Given the description of an element on the screen output the (x, y) to click on. 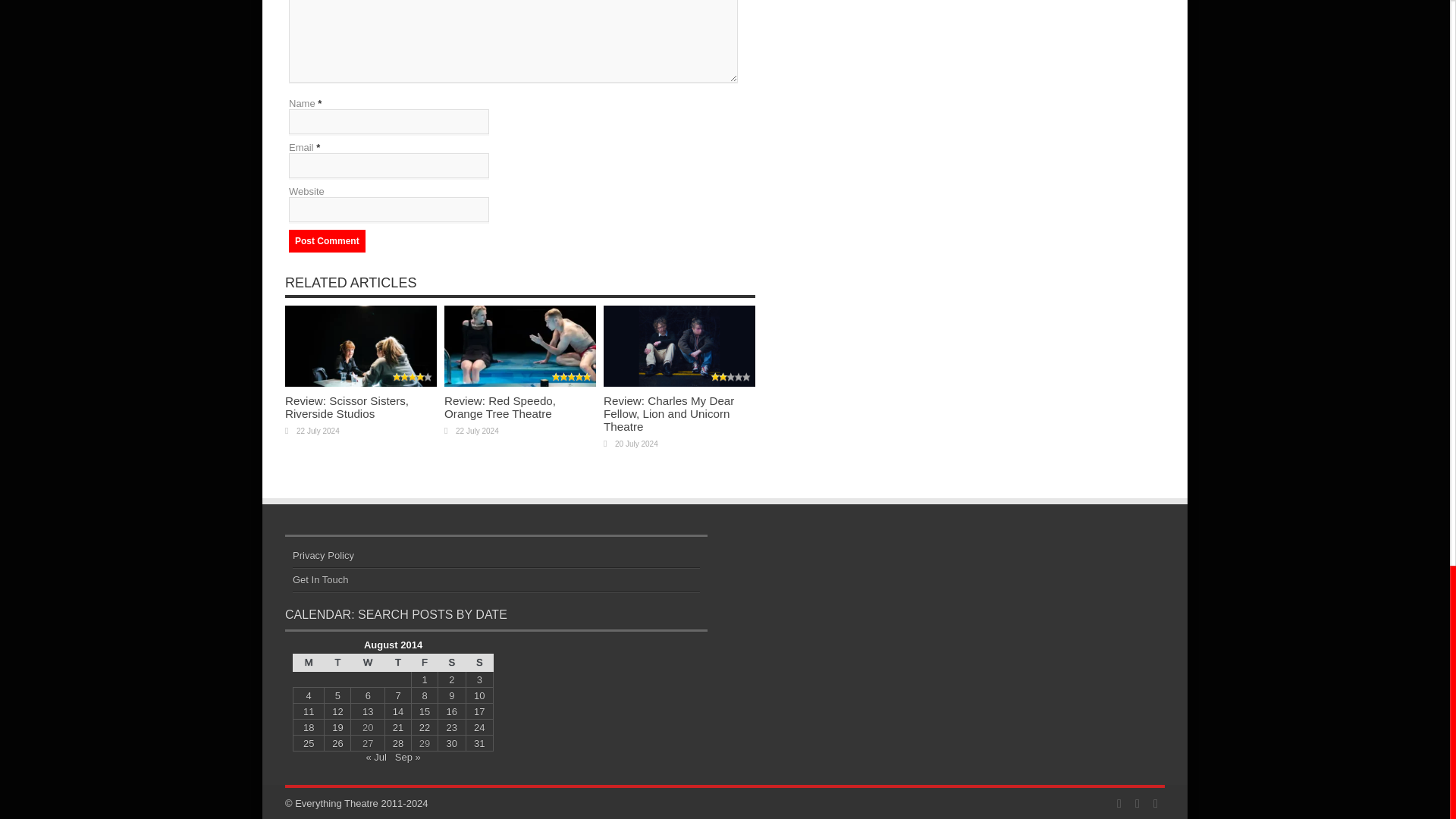
Permalink to Review: Scissor Sisters, Riverside Studios (360, 383)
Permalink to Review: Scissor Sisters, Riverside Studios (347, 406)
Excellent (412, 377)
Post Comment (326, 241)
